Given the description of an element on the screen output the (x, y) to click on. 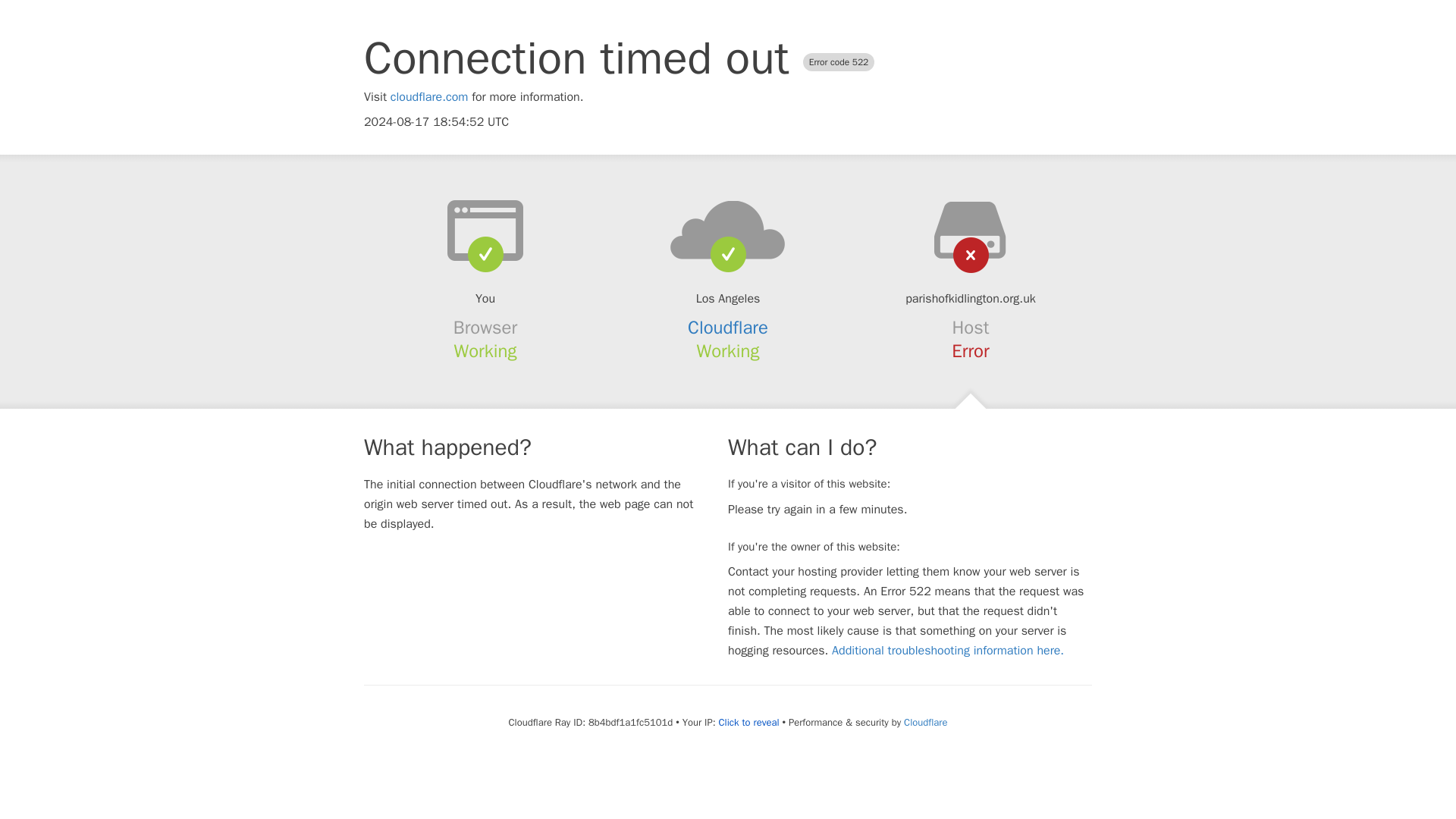
Additional troubleshooting information here. (947, 650)
Click to reveal (748, 722)
Cloudflare (925, 721)
cloudflare.com (429, 96)
Cloudflare (727, 327)
